Given the description of an element on the screen output the (x, y) to click on. 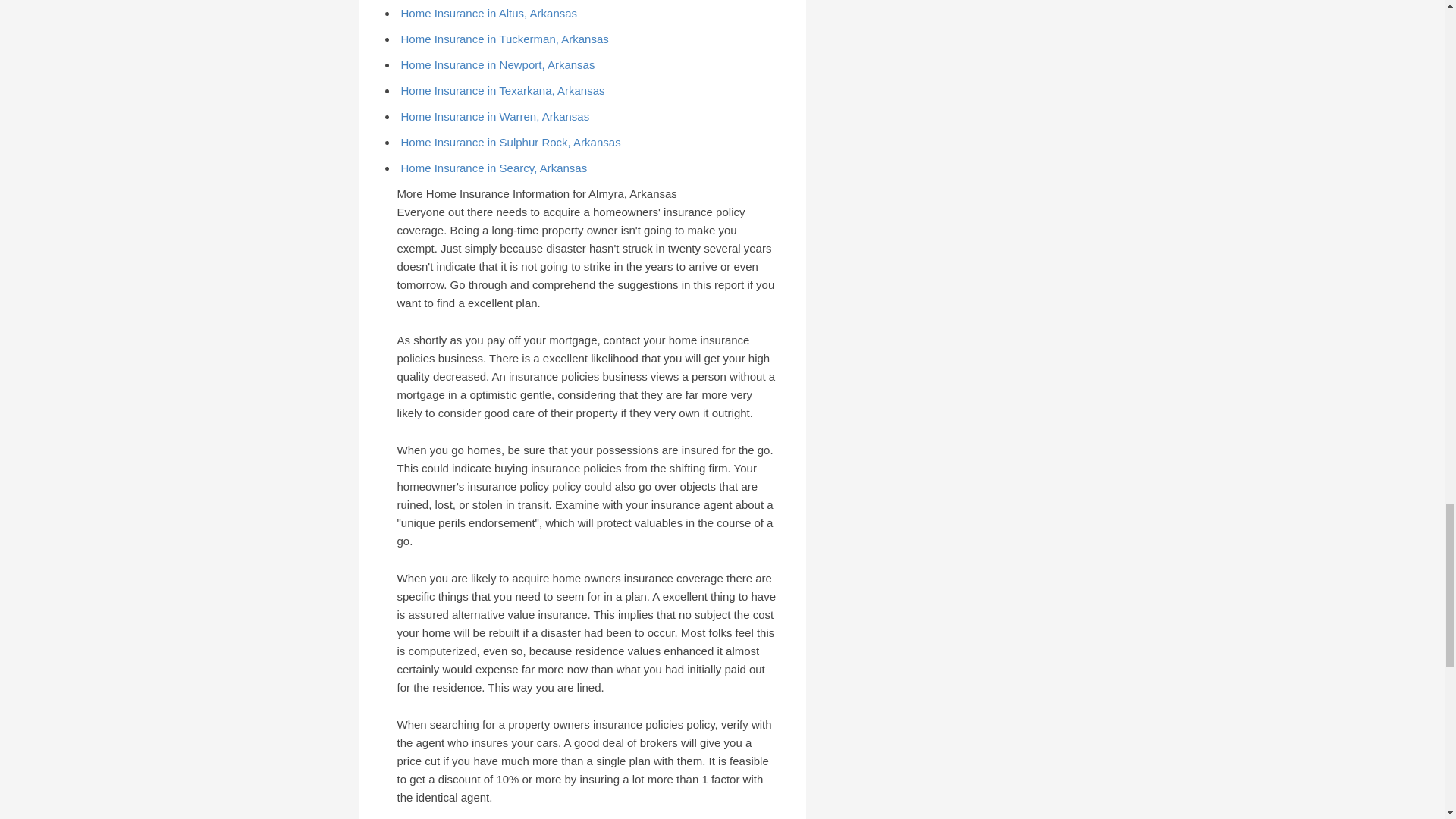
Home Insurance in Altus, Arkansas (488, 12)
Home Insurance in Sulphur Rock, Arkansas (510, 141)
More Home Insurance Information for Almyra, Arkansas (531, 197)
Home Insurance in Searcy, Arkansas (493, 167)
Home Insurance in Searcy, Arkansas (493, 167)
Home Insurance in Newport, Arkansas (497, 64)
Home Insurance in Tuckerman, Arkansas (504, 38)
Home Insurance in Altus, Arkansas (488, 12)
Home Insurance in Tuckerman, Arkansas (504, 38)
Home Insurance in Warren, Arkansas (494, 115)
Home Insurance in Warren, Arkansas (494, 115)
Home Insurance in Texarkana, Arkansas (502, 90)
Home Insurance in Texarkana, Arkansas (502, 90)
Home Insurance in Sulphur Rock, Arkansas (510, 141)
Home Insurance in Newport, Arkansas (497, 64)
